Given the description of an element on the screen output the (x, y) to click on. 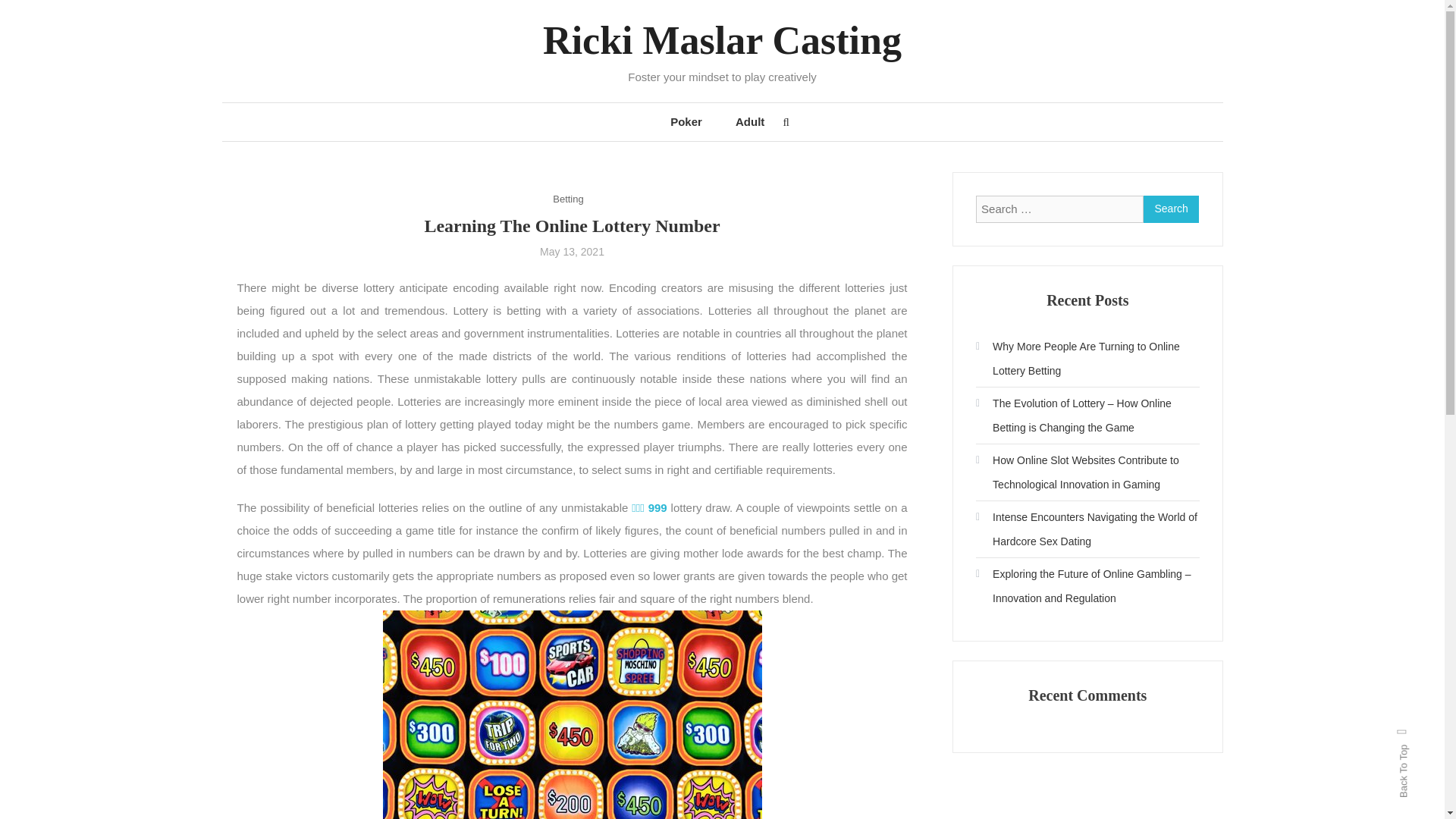
Poker (686, 121)
Search (1170, 208)
Search (768, 432)
Why More People Are Turning to Online Lottery Betting (1086, 358)
May 13, 2021 (572, 251)
Search (1170, 208)
Adult (749, 121)
Betting (568, 199)
Search (1170, 208)
